Given the description of an element on the screen output the (x, y) to click on. 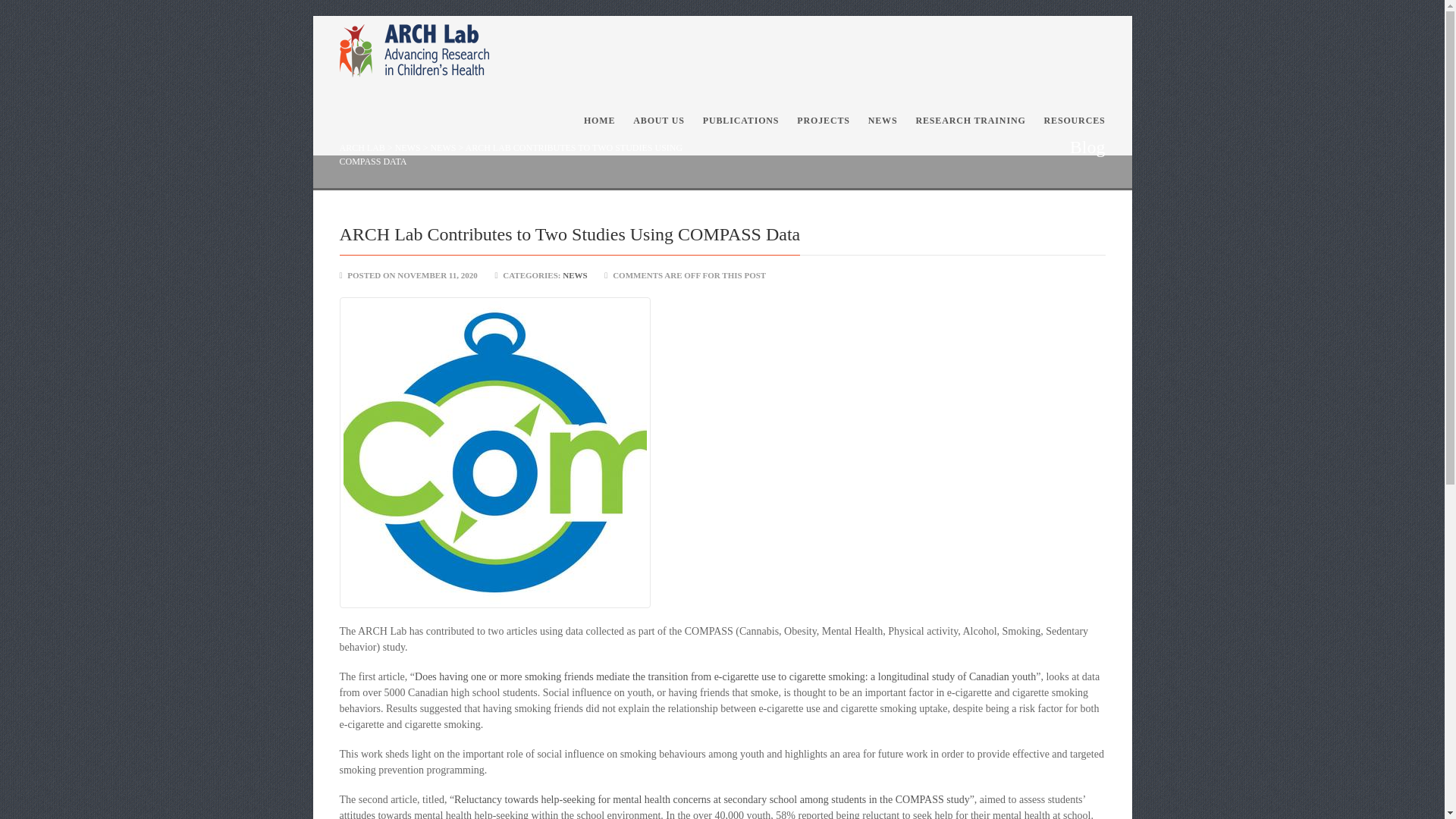
ARCH Lab (475, 50)
ABOUT US (659, 120)
RESEARCH TRAINING (969, 120)
NEWS (574, 275)
PROJECTS (823, 120)
PUBLICATIONS (741, 120)
RESOURCES (1070, 120)
NEWS (407, 147)
Go to ARCH Lab. (362, 147)
NEWS (442, 147)
